Given the description of an element on the screen output the (x, y) to click on. 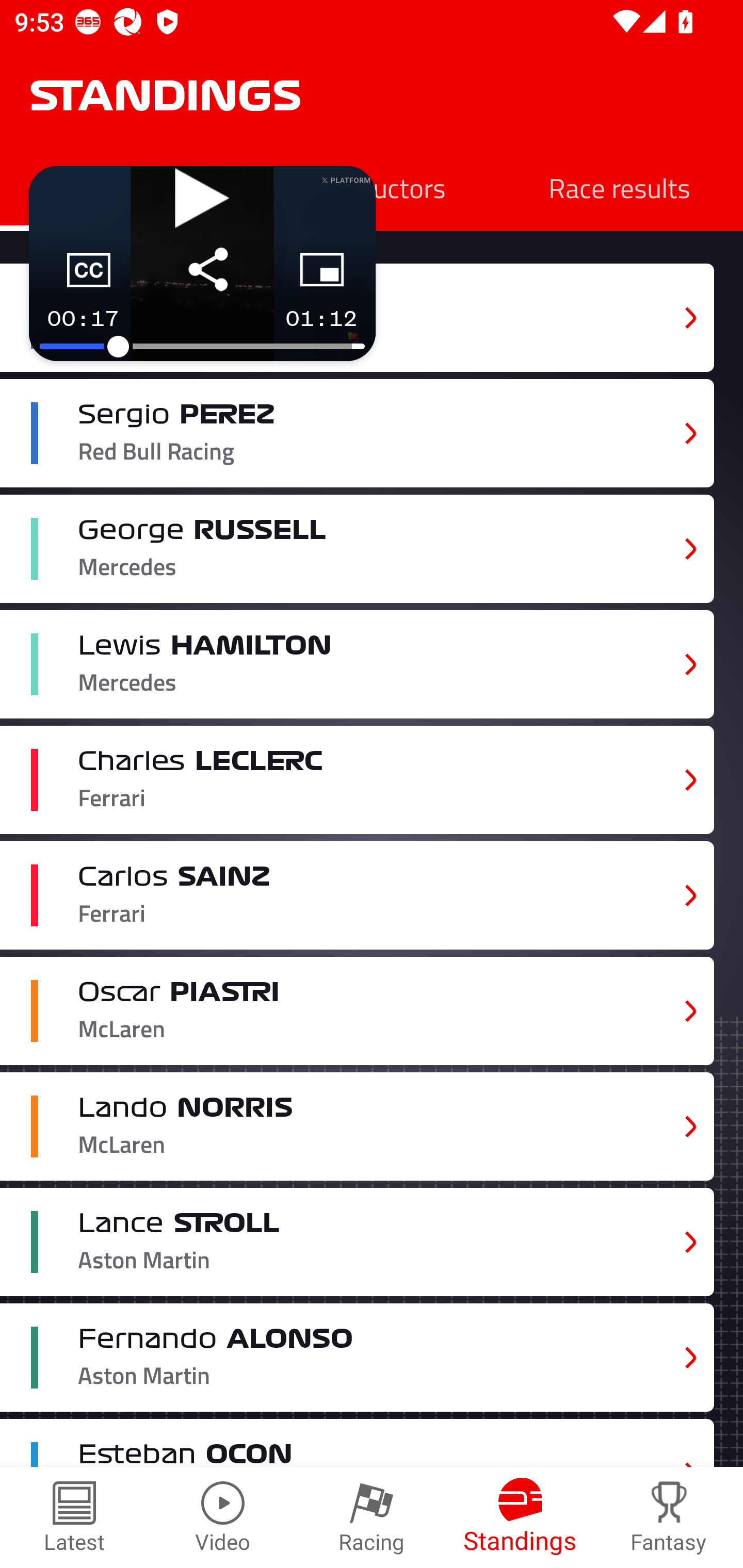
Race results (619, 187)
Sergio PEREZ Red Bull Racing (357, 433)
George RUSSELL Mercedes (357, 548)
Lewis HAMILTON Mercedes (357, 663)
Charles LECLERC Ferrari (357, 779)
Carlos SAINZ Ferrari (357, 896)
Oscar PIASTRI McLaren (357, 1010)
Lando NORRIS McLaren (357, 1126)
Lance STROLL Aston Martin (357, 1242)
Fernando ALONSO Aston Martin (357, 1357)
Latest (74, 1517)
Video (222, 1517)
Racing (371, 1517)
Fantasy (668, 1517)
